Given the description of an element on the screen output the (x, y) to click on. 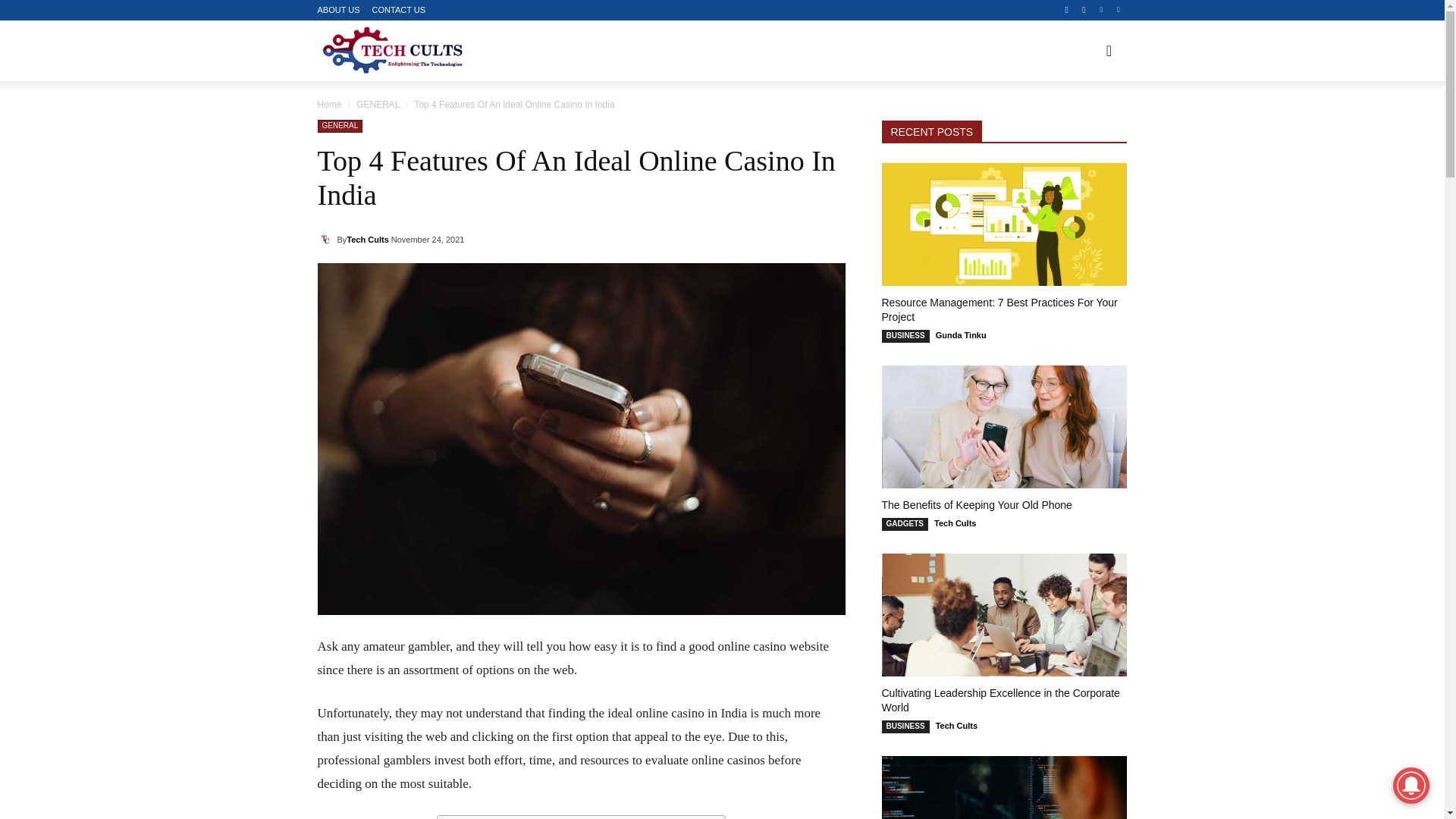
View all posts in GENERAL (377, 104)
CONTACT US (399, 9)
ABOUT US (338, 9)
